Given the description of an element on the screen output the (x, y) to click on. 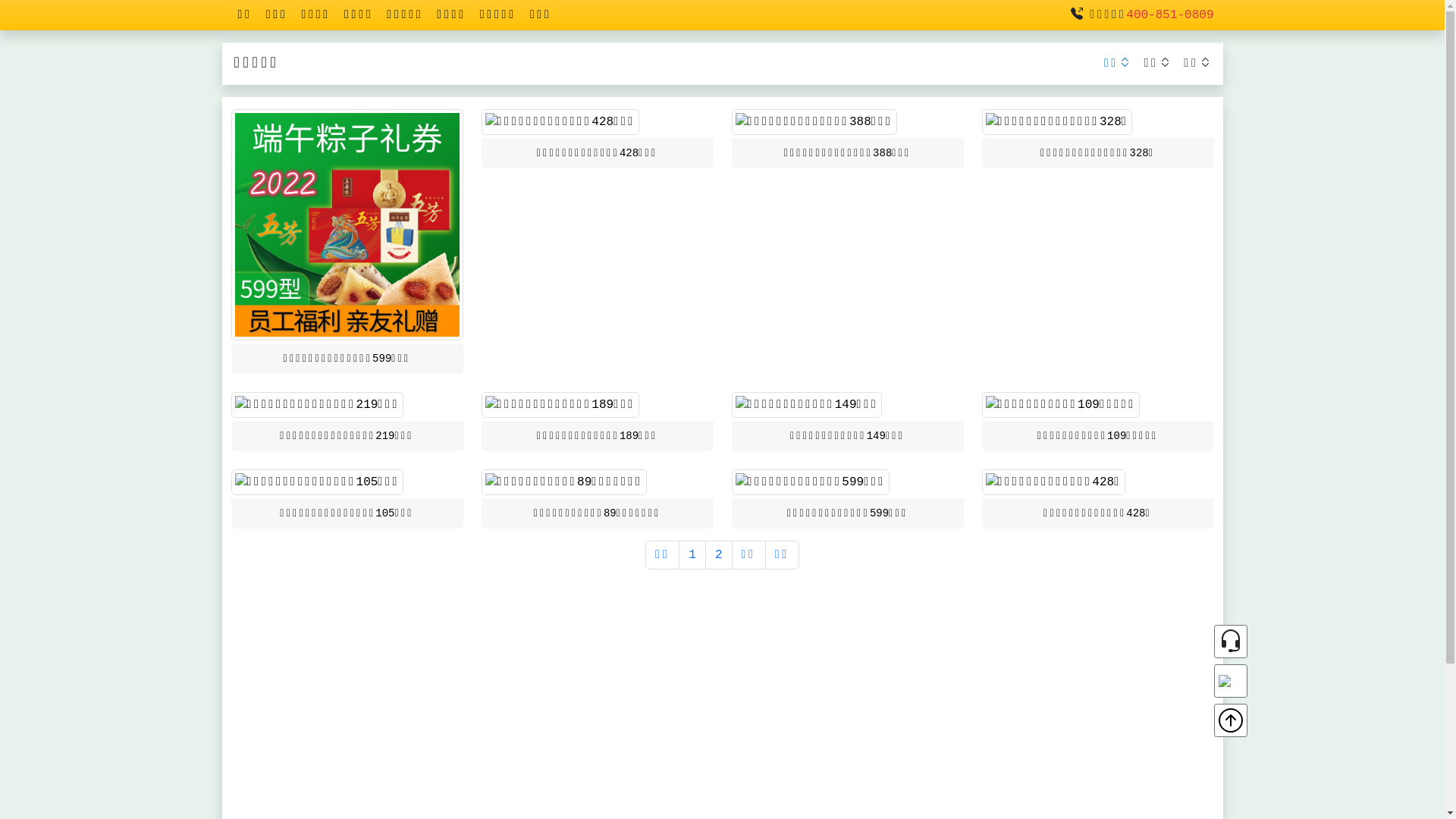
2 Element type: text (718, 554)
1 Element type: text (692, 554)
